Given the description of an element on the screen output the (x, y) to click on. 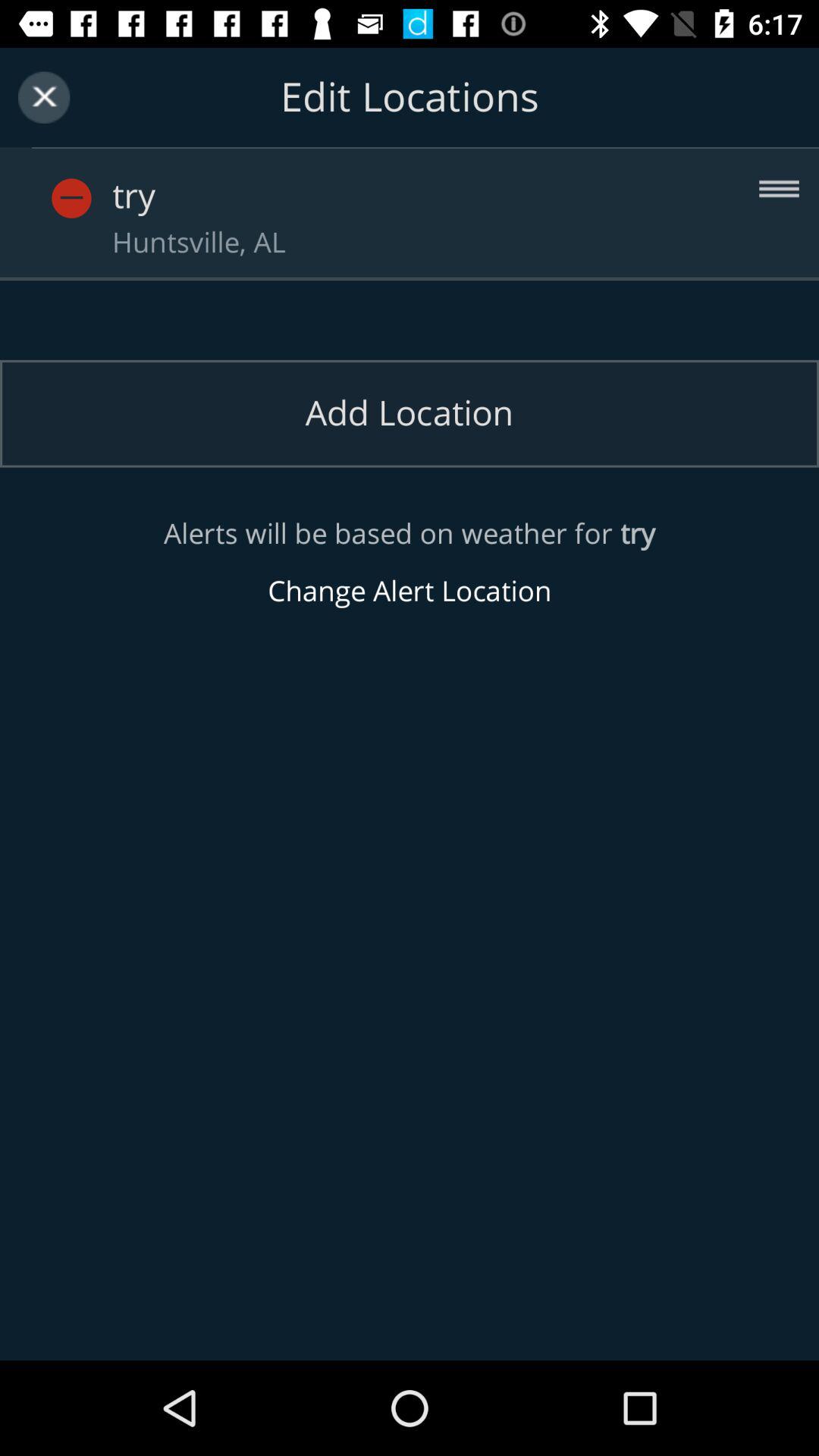
delete location (99, 182)
